Given the description of an element on the screen output the (x, y) to click on. 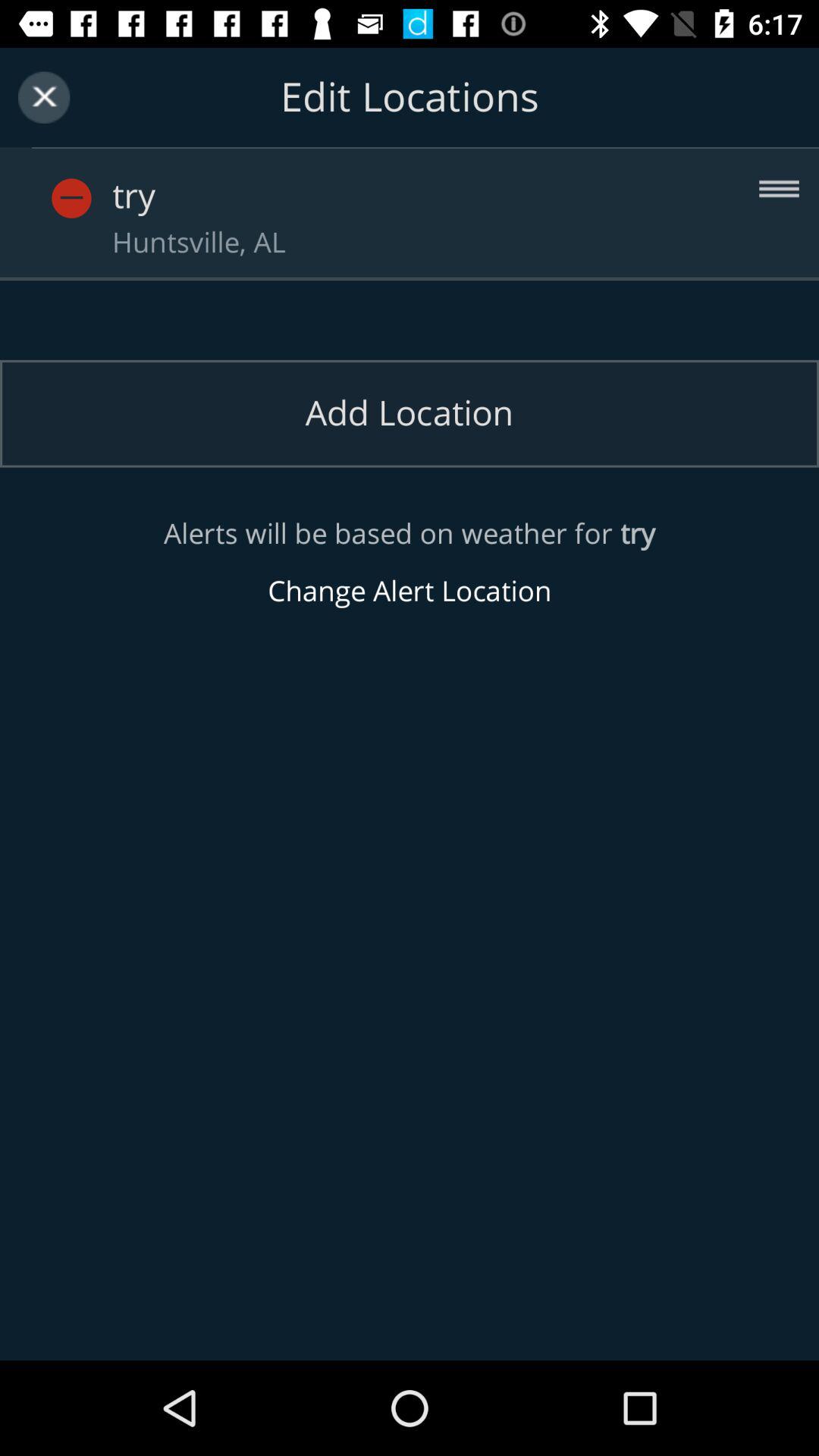
delete location (99, 182)
